Given the description of an element on the screen output the (x, y) to click on. 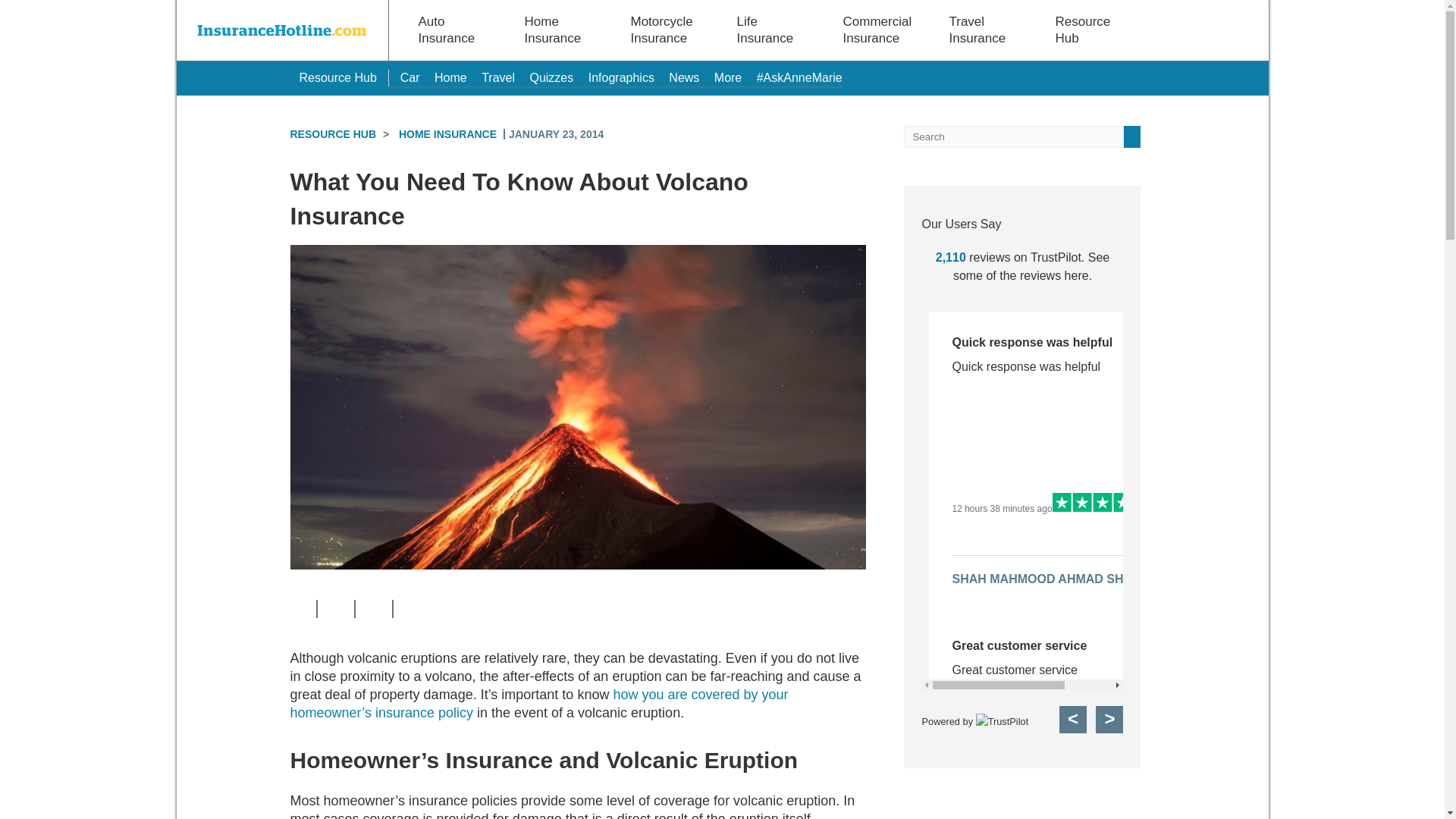
Infographics (620, 77)
Resource Hub (336, 77)
More (727, 77)
Auto Insurance (449, 30)
News (683, 77)
RESOURCE HUB (332, 133)
Commercial Insurance (877, 30)
Car (410, 77)
Life Insurance (767, 30)
Motorcycle Insurance (661, 30)
